Given the description of an element on the screen output the (x, y) to click on. 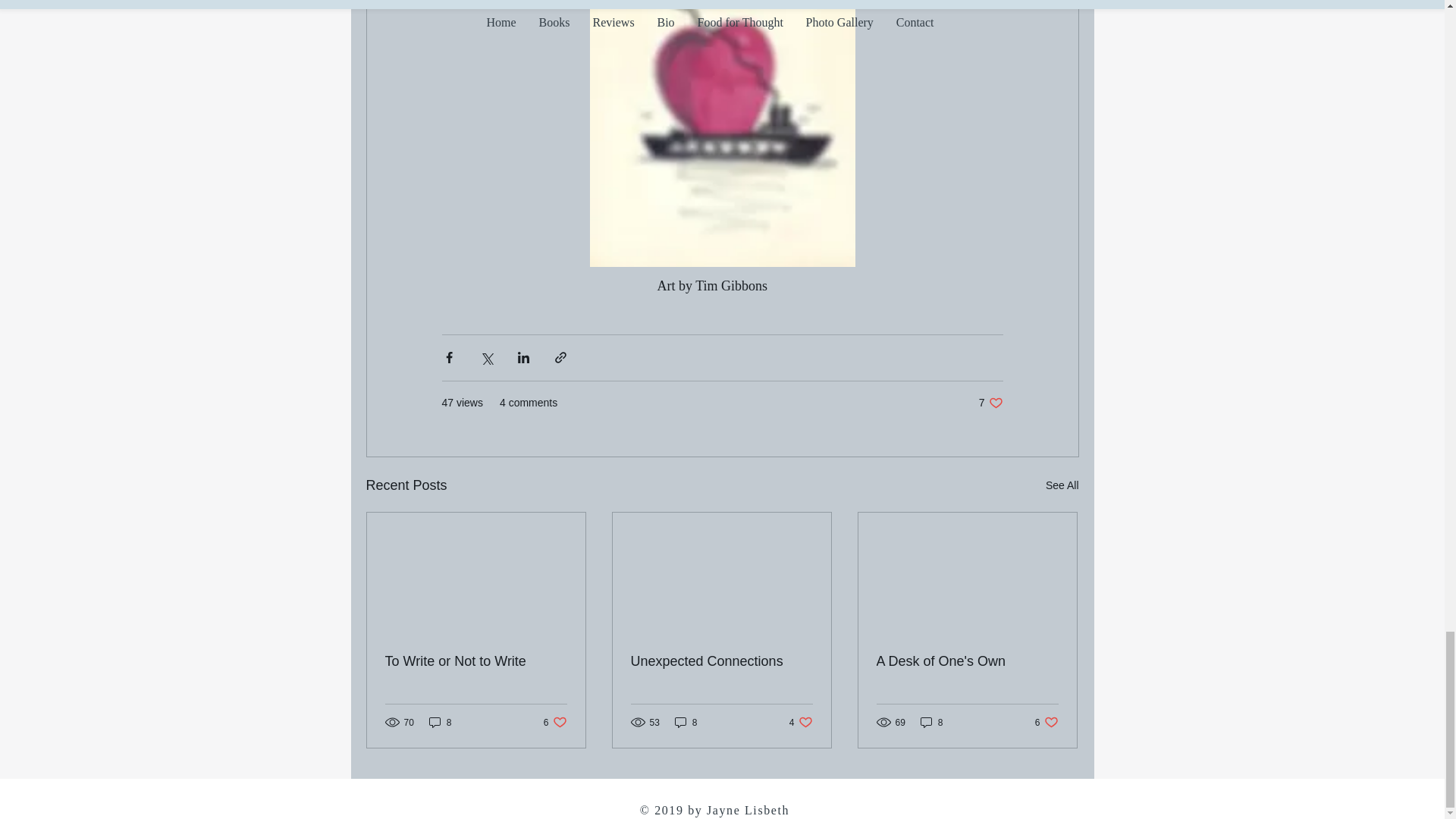
See All (1061, 485)
8 (440, 721)
To Write or Not to Write (555, 721)
8 (990, 402)
8 (476, 661)
Unexpected Connections (1046, 721)
